Given the description of an element on the screen output the (x, y) to click on. 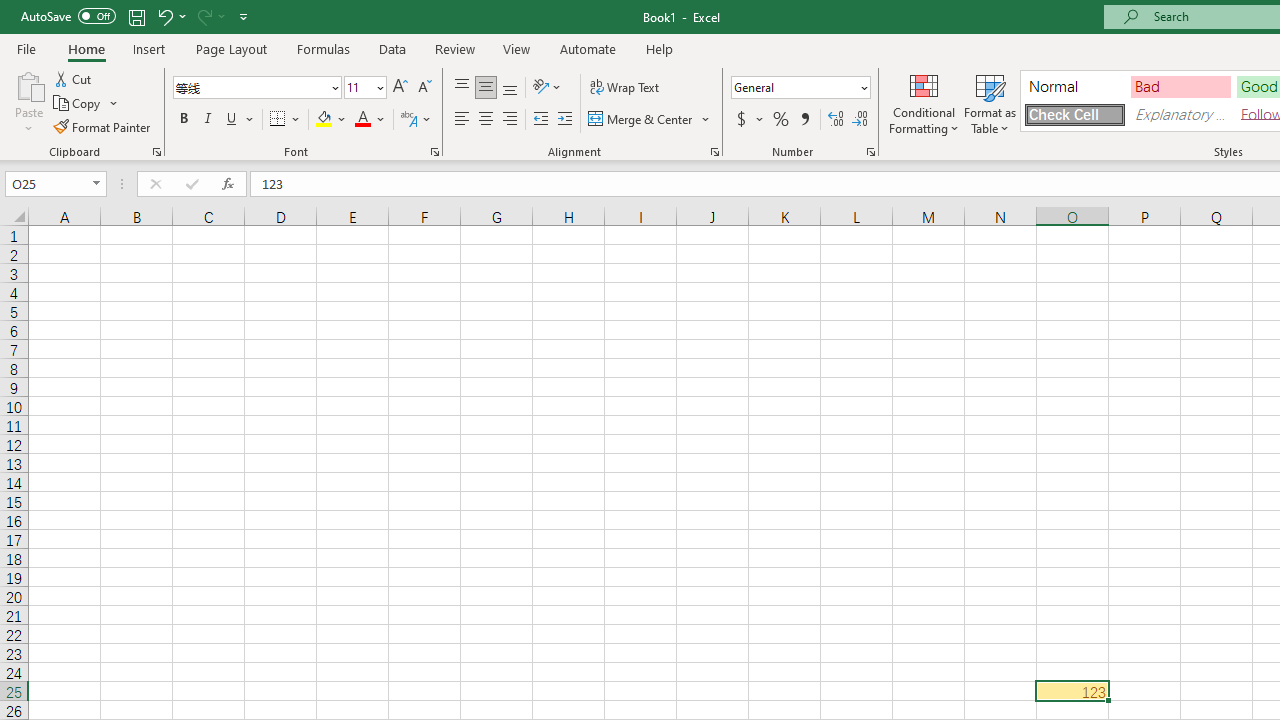
Fill Color (331, 119)
Formulas (323, 48)
Automate (588, 48)
